Given the description of an element on the screen output the (x, y) to click on. 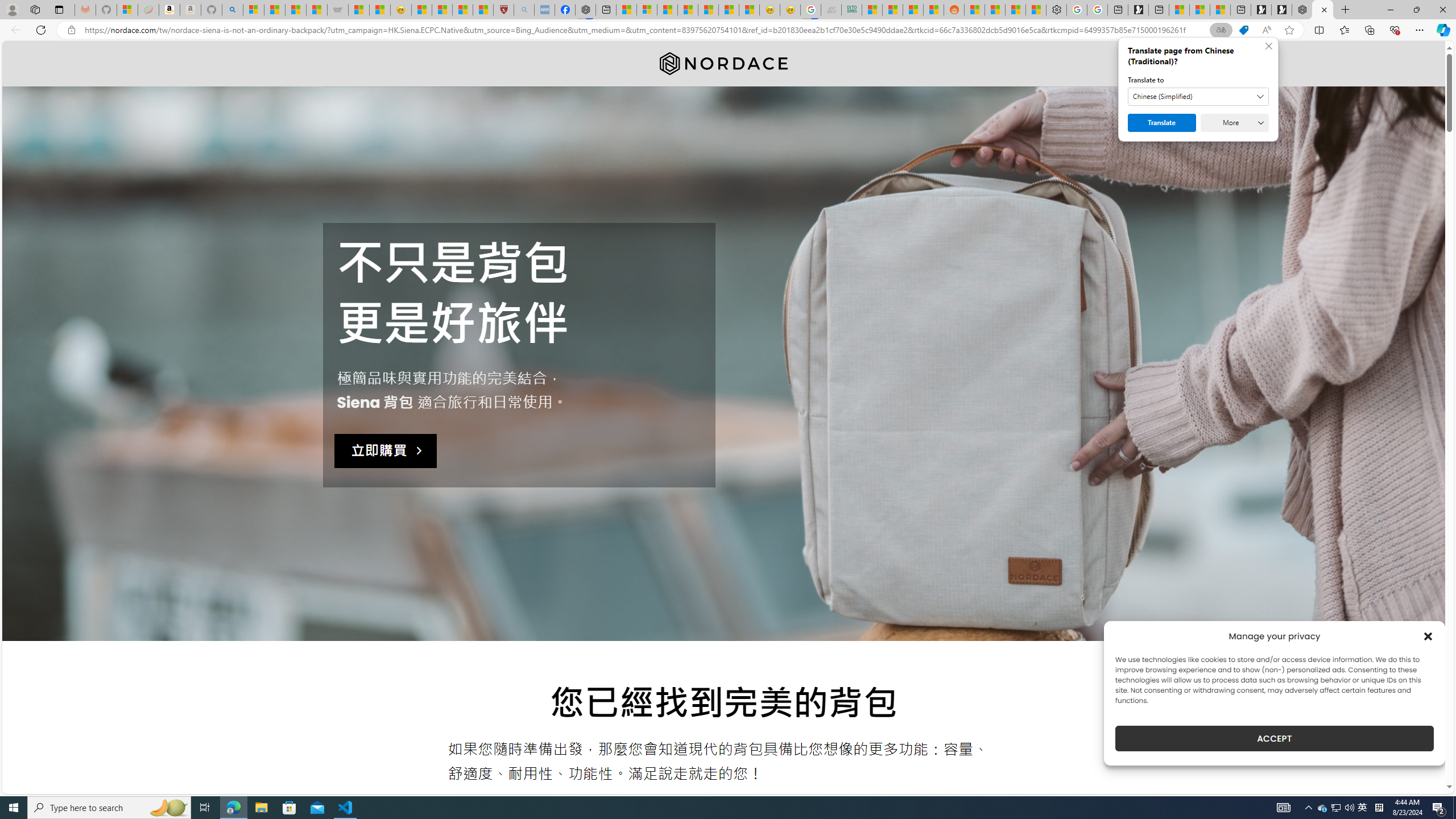
These 3 Stocks Pay You More Than 5% to Own Them (1219, 9)
Recipes - MSN (421, 9)
